Given the description of an element on the screen output the (x, y) to click on. 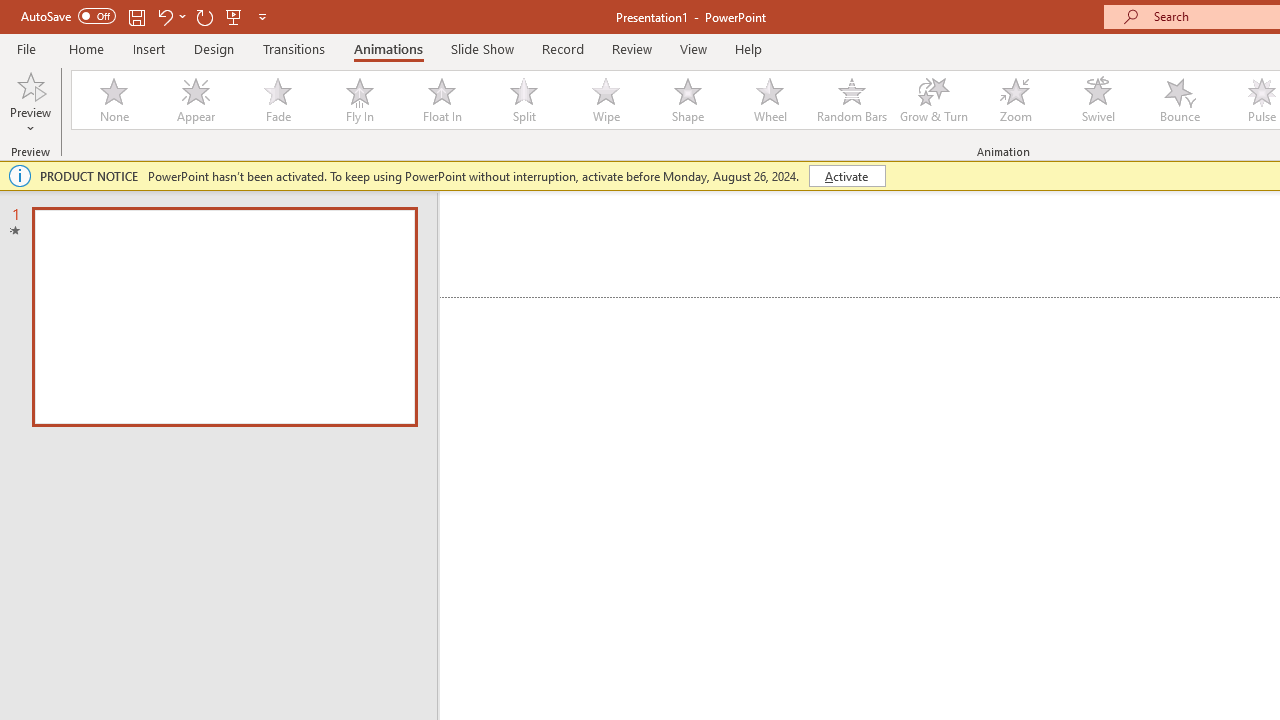
Random Bars (852, 100)
None (113, 100)
Preview (30, 102)
Preview (30, 84)
Wipe (605, 100)
Bounce (1180, 100)
Swivel (1098, 100)
